Given the description of an element on the screen output the (x, y) to click on. 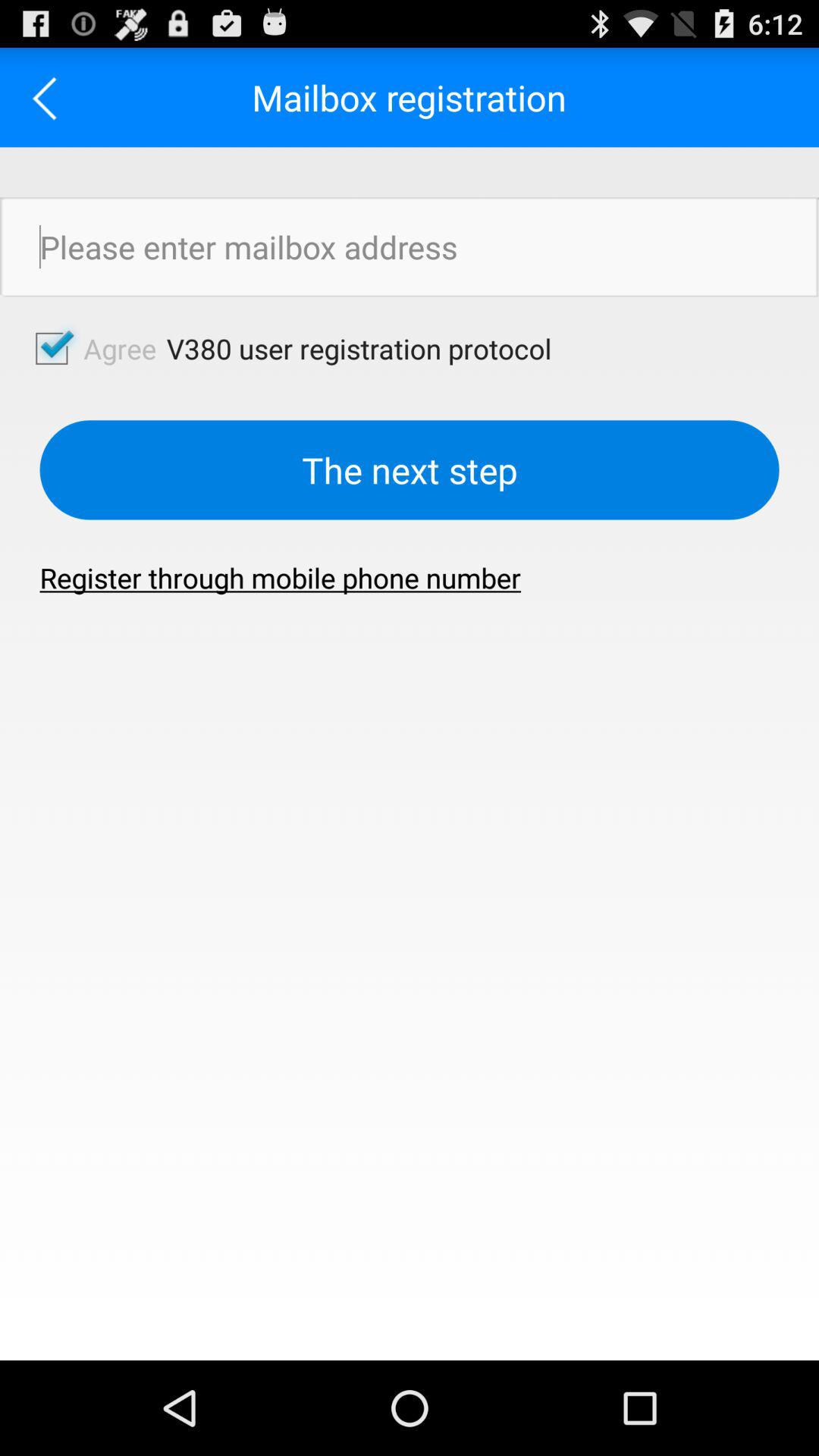
agree to protocol (51, 348)
